Given the description of an element on the screen output the (x, y) to click on. 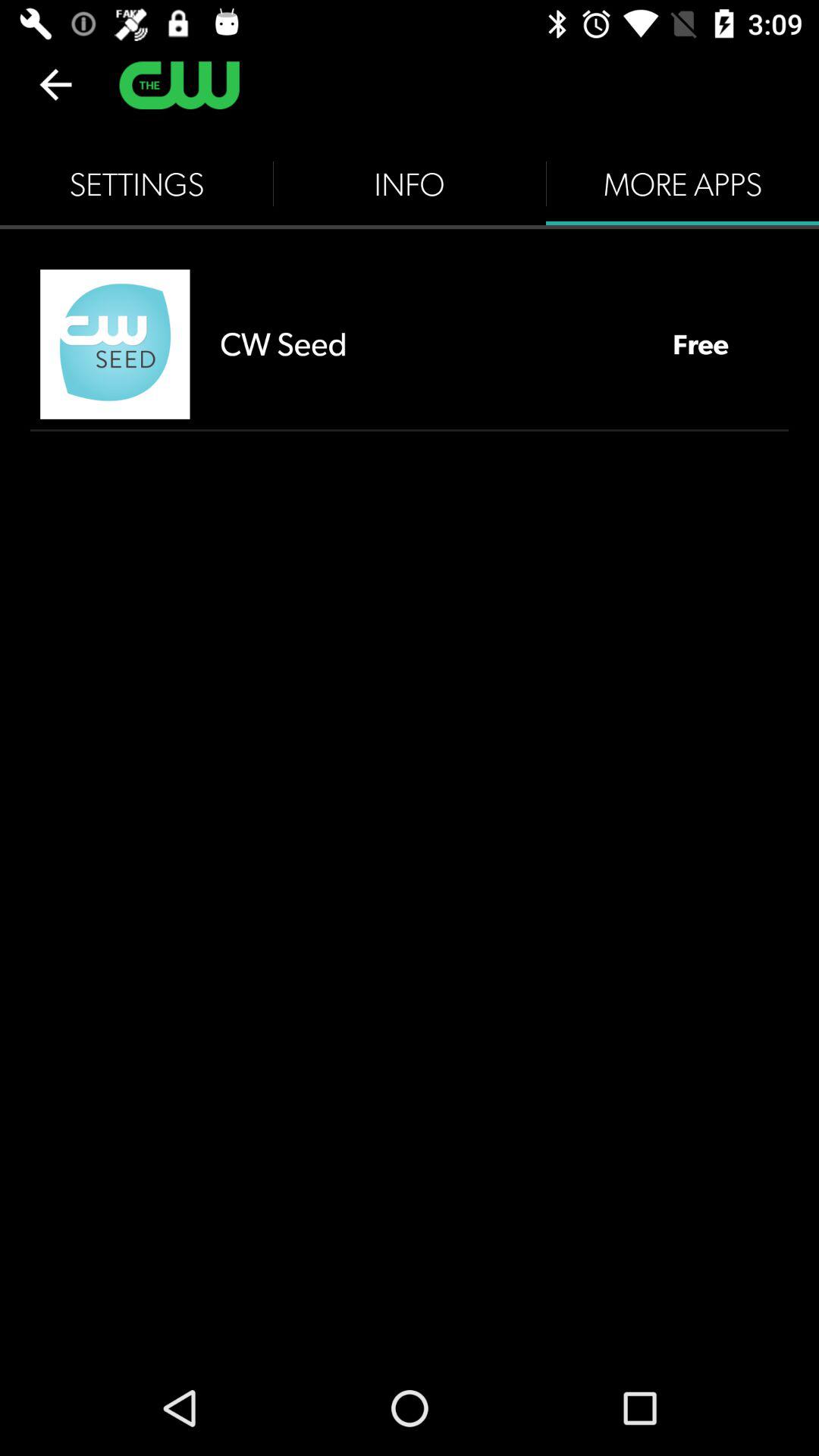
click icon next to the free item (431, 343)
